Given the description of an element on the screen output the (x, y) to click on. 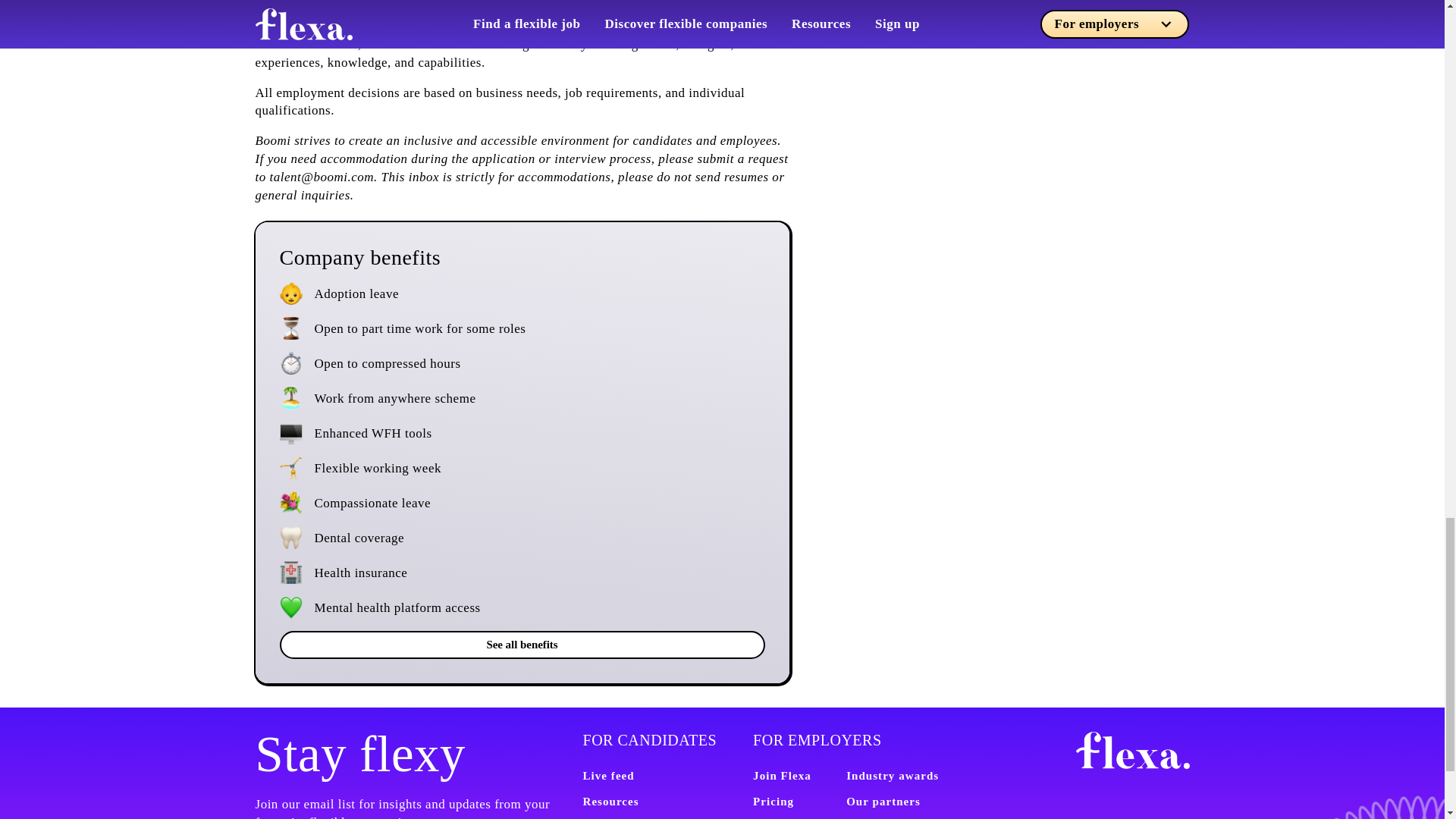
Industry awards (892, 775)
Join Flexa (781, 775)
Pricing (772, 801)
Our partners (882, 801)
Resources (610, 801)
See all benefits (521, 644)
Live feed (607, 775)
